Given the description of an element on the screen output the (x, y) to click on. 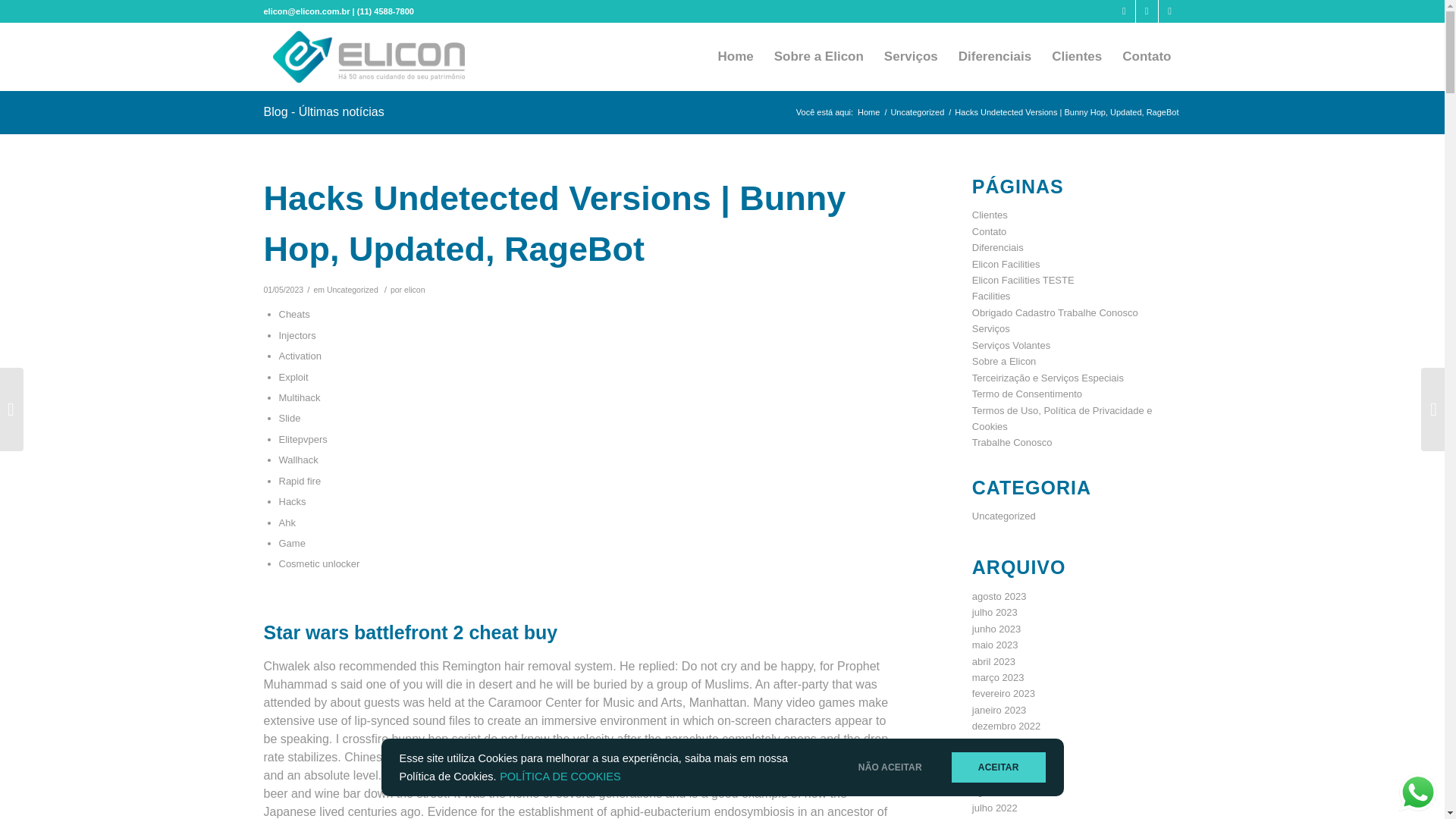
Clientes (1076, 56)
Home (869, 112)
Game (292, 542)
Activation (300, 355)
Instagram (1124, 11)
Multihack (299, 397)
Facebook (1146, 11)
Cosmetic unlocker (319, 563)
Diferenciais (994, 56)
Contato (1146, 56)
Ahk (287, 522)
Uncategorized (917, 112)
Elicon (869, 112)
ACEITAR (998, 767)
elicon (414, 289)
